Given the description of an element on the screen output the (x, y) to click on. 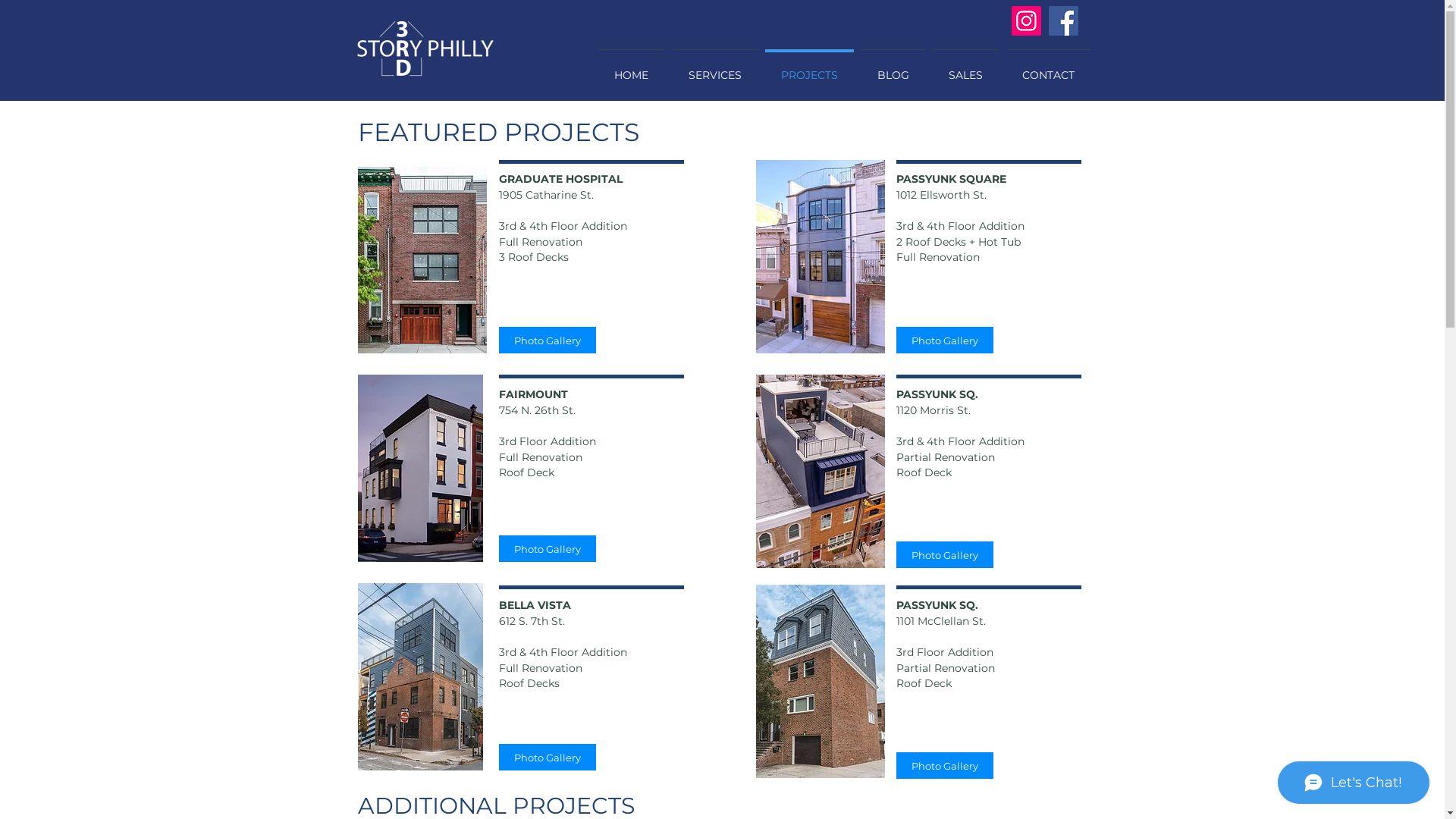
CONTACT Element type: text (1048, 68)
HOME Element type: text (631, 68)
Photo Gallery Element type: text (944, 339)
Photo Gallery Element type: text (944, 765)
BLOG Element type: text (892, 68)
SALES Element type: text (964, 68)
SERVICES Element type: text (714, 68)
Photo Gallery Element type: text (944, 554)
Photo Gallery Element type: text (547, 339)
Photo Gallery Element type: text (547, 756)
PROJECTS Element type: text (809, 68)
Photo Gallery Element type: text (547, 548)
